Given the description of an element on the screen output the (x, y) to click on. 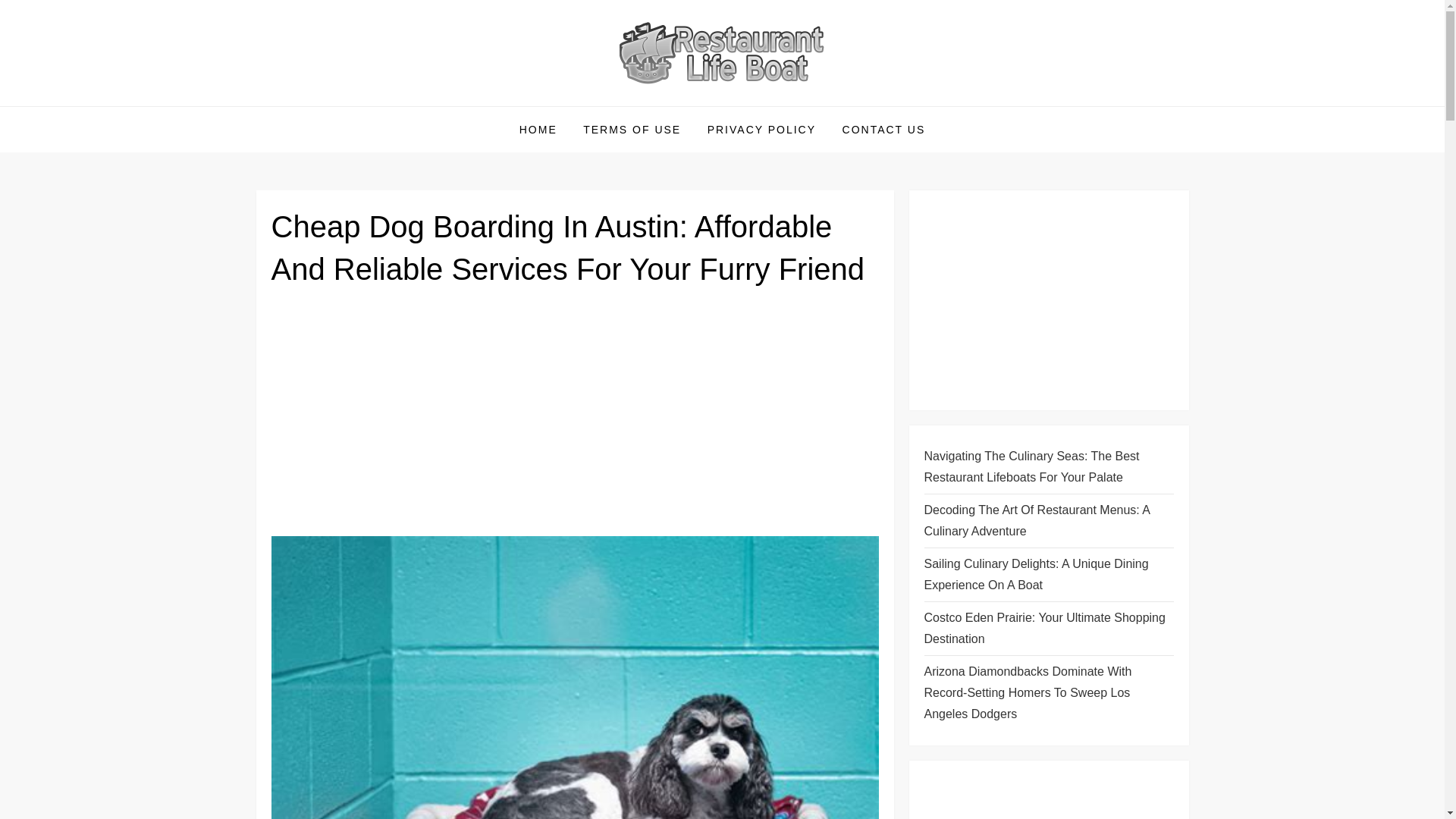
PRIVACY POLICY (761, 129)
TERMS OF USE (632, 129)
Costco Eden Prairie: Your Ultimate Shopping Destination (1048, 628)
Advertisement (1048, 797)
Decoding The Art Of Restaurant Menus: A Culinary Adventure (1048, 520)
Advertisement (1048, 299)
Restaurant Life Boat (394, 105)
